Given the description of an element on the screen output the (x, y) to click on. 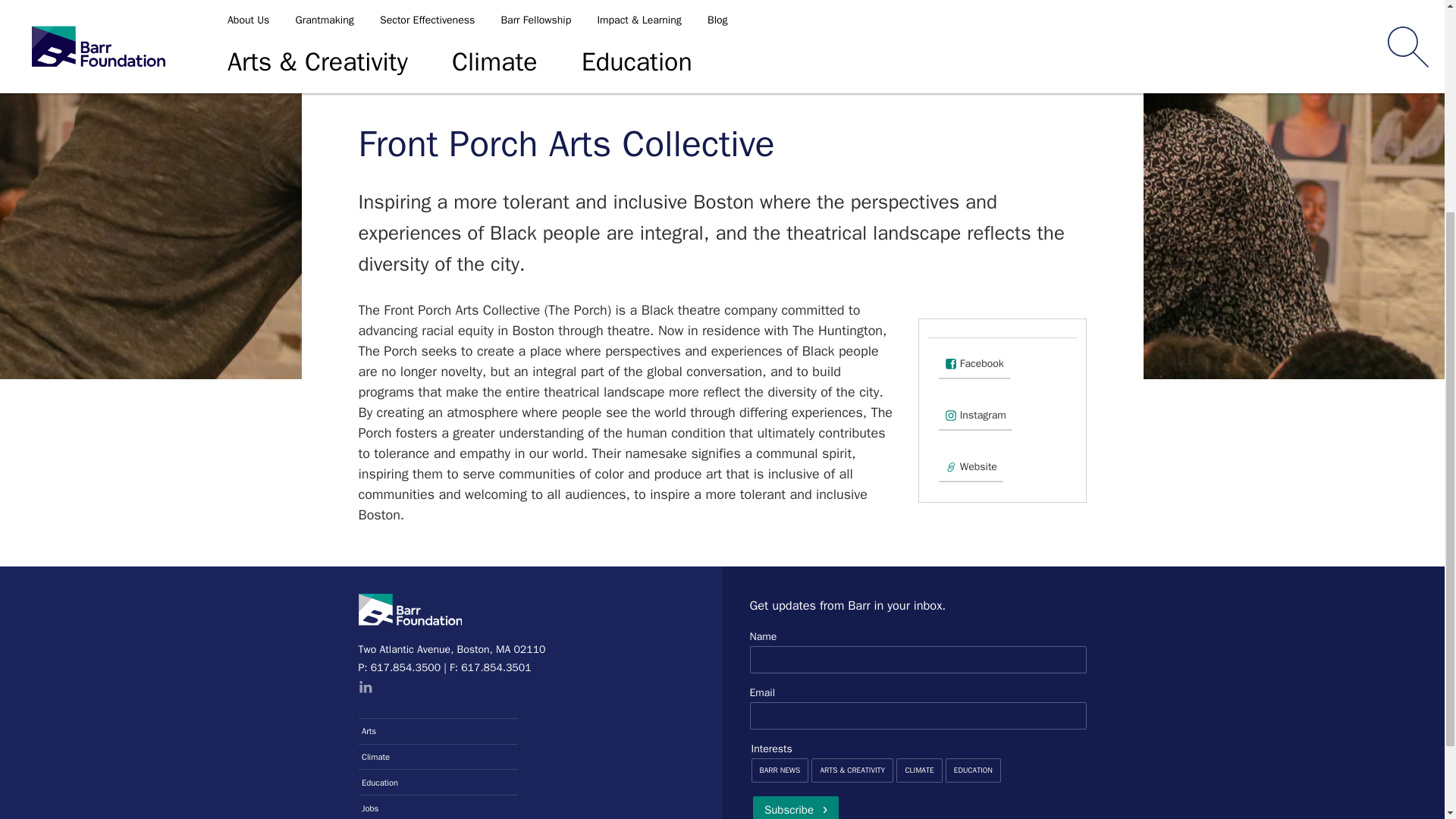
Barr on Linkeedin (364, 687)
Powering Cultural Futures (546, 47)
Website (971, 467)
Instagram (975, 415)
Front Porch Arts Collective (707, 47)
Education (438, 781)
Facebook (974, 363)
Arts (438, 730)
Climate (438, 755)
